Given the description of an element on the screen output the (x, y) to click on. 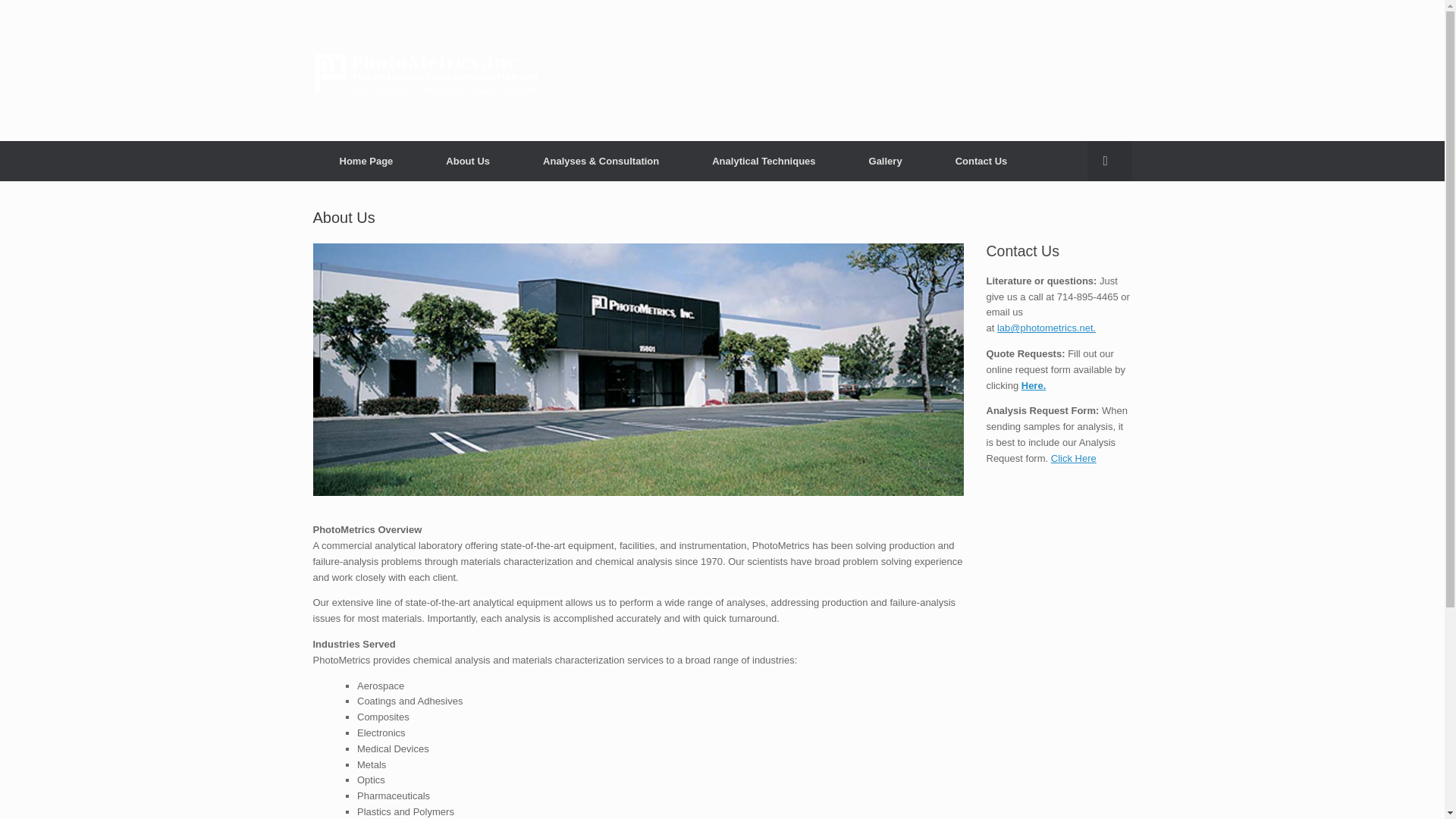
Click Here (1073, 458)
About Us (467, 160)
Analytical Techniques (763, 160)
Here. (1034, 385)
Home Page (366, 160)
Gallery (885, 160)
Contact Us (980, 160)
